Given the description of an element on the screen output the (x, y) to click on. 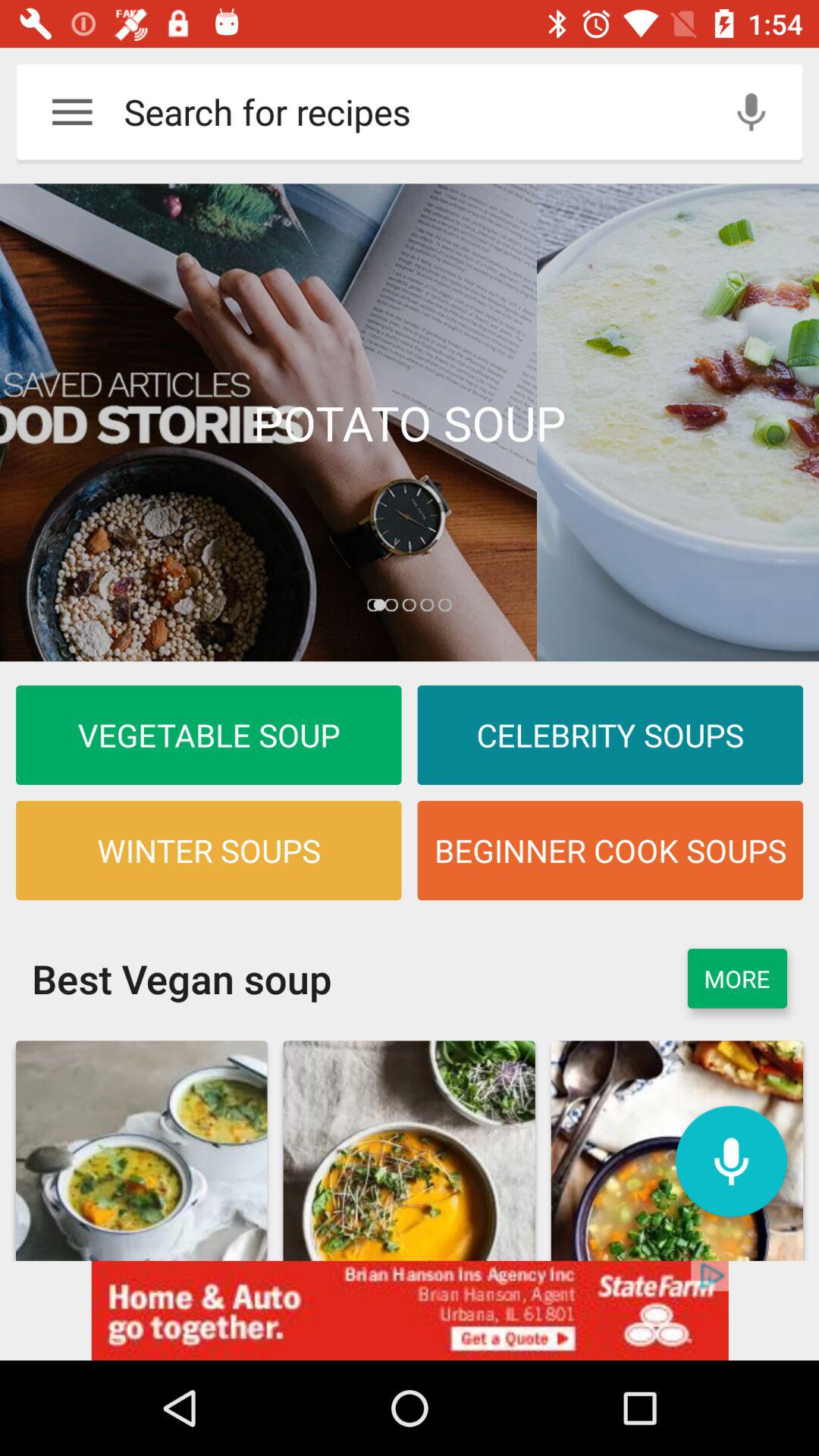
click to activate voice search (731, 1161)
